Given the description of an element on the screen output the (x, y) to click on. 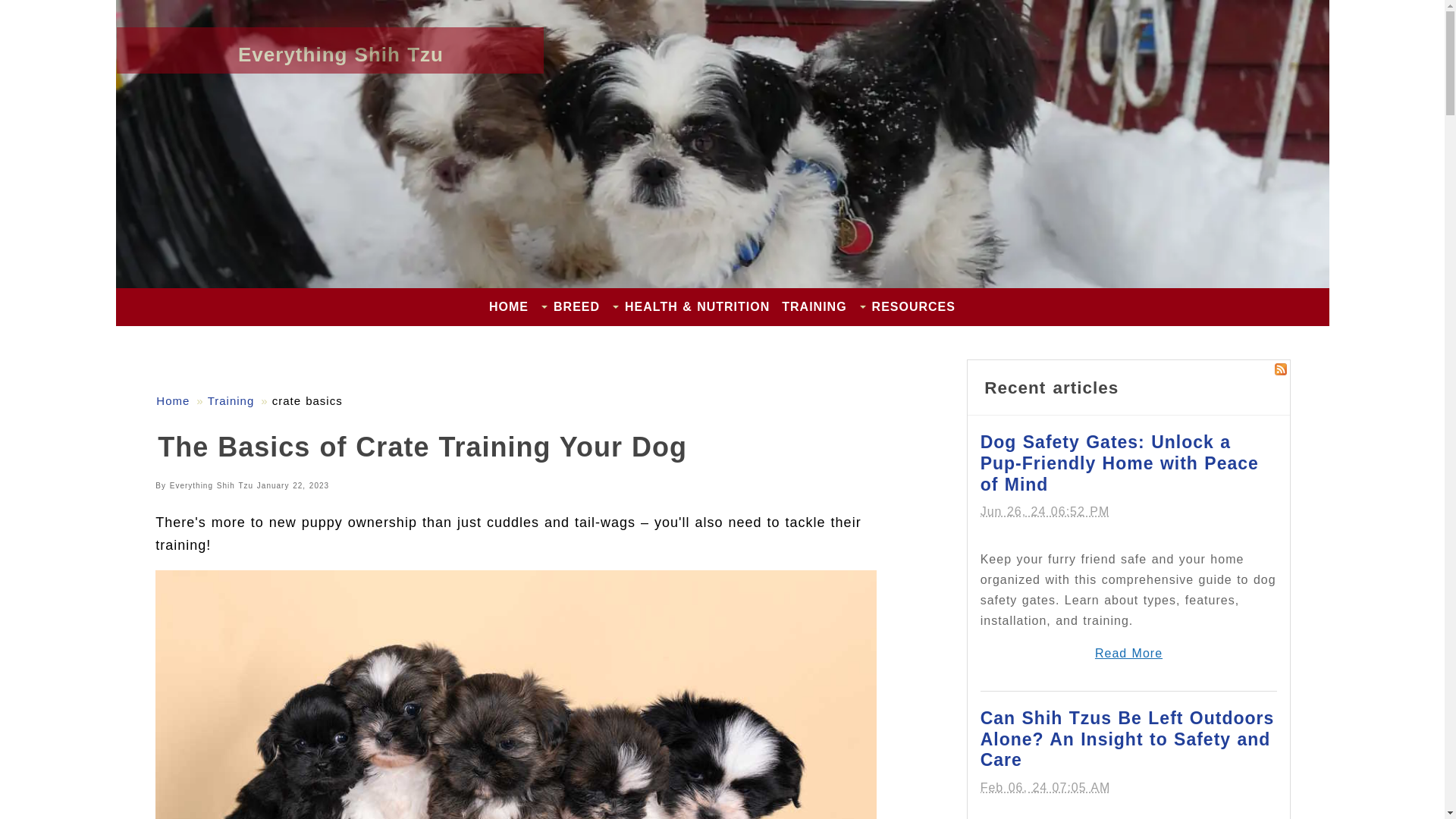
Recent articles (1051, 387)
TRAINING (813, 306)
HOME (508, 306)
Everything Shih Tzu (341, 54)
Training (231, 400)
Home (172, 400)
2024-06-26T18:52:22-0400 (1044, 511)
Read More (1127, 653)
2024-02-06T07:05:30-0500 (1044, 787)
